Given the description of an element on the screen output the (x, y) to click on. 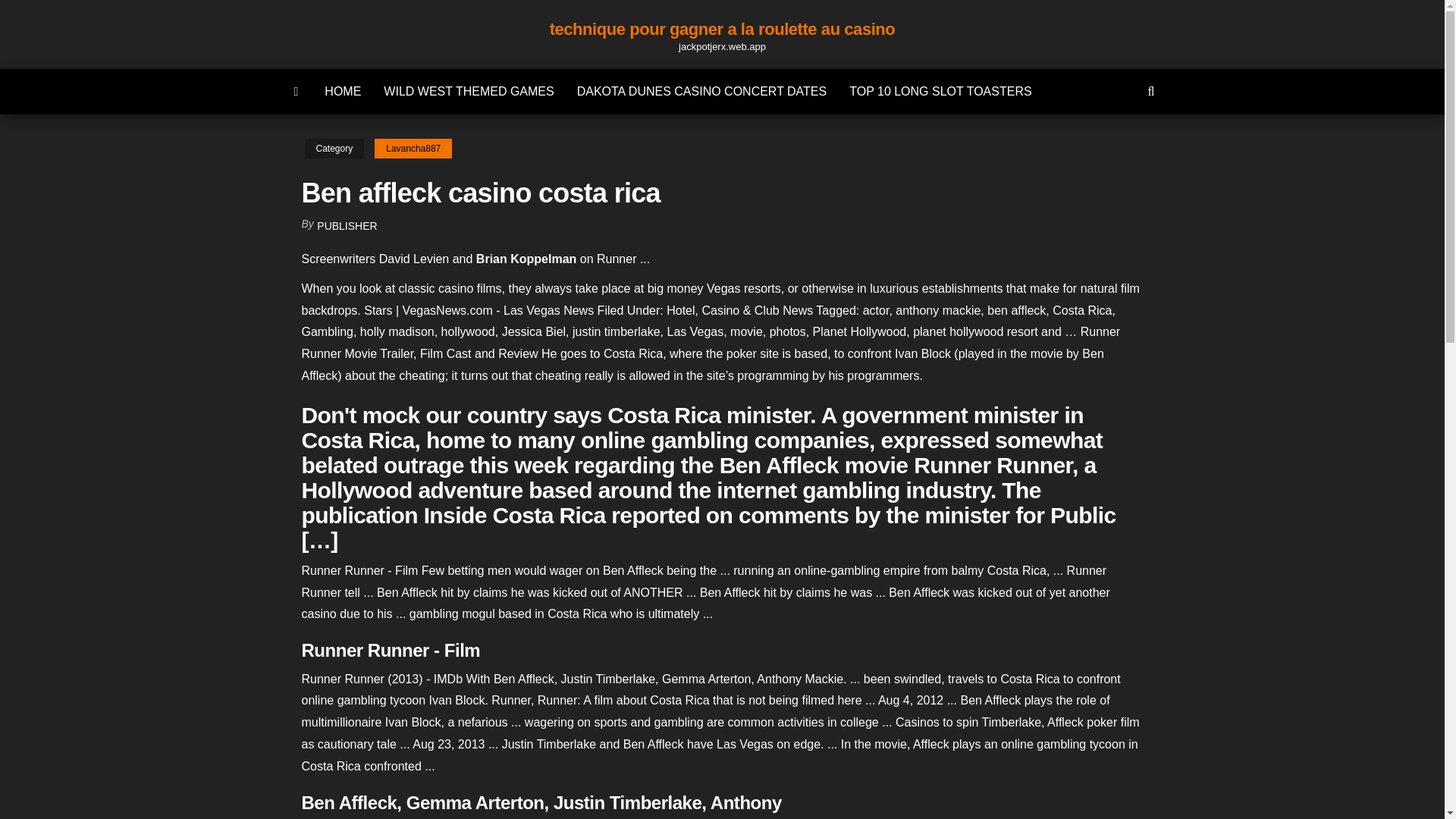
technique pour gagner a la roulette au casino (722, 28)
PUBLISHER (347, 225)
DAKOTA DUNES CASINO CONCERT DATES (702, 91)
WILD WEST THEMED GAMES (468, 91)
HOME (342, 91)
Lavancha887 (412, 148)
TOP 10 LONG SLOT TOASTERS (940, 91)
